Given the description of an element on the screen output the (x, y) to click on. 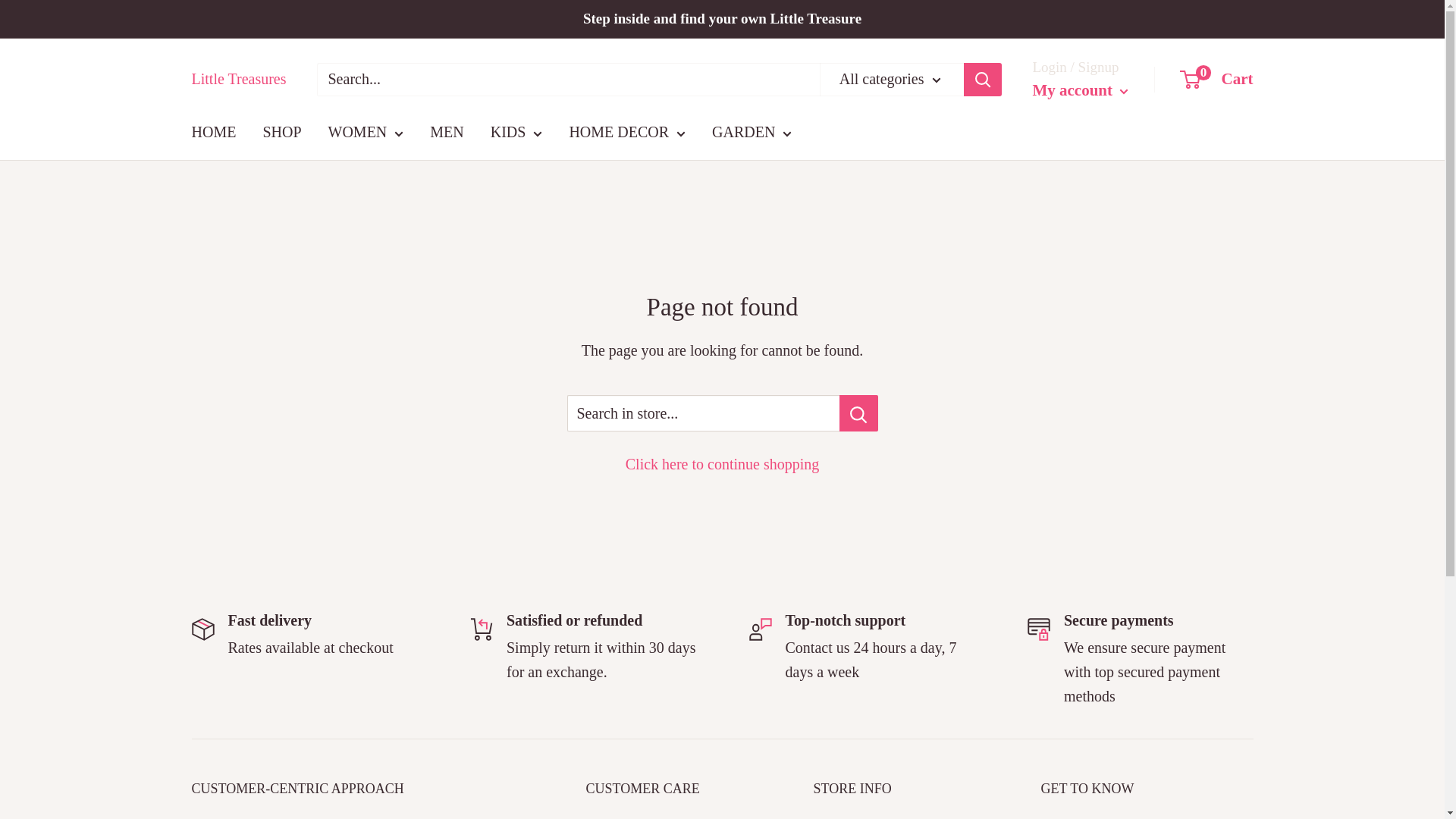
My account (1080, 90)
Little Treasures (237, 79)
